Given the description of an element on the screen output the (x, y) to click on. 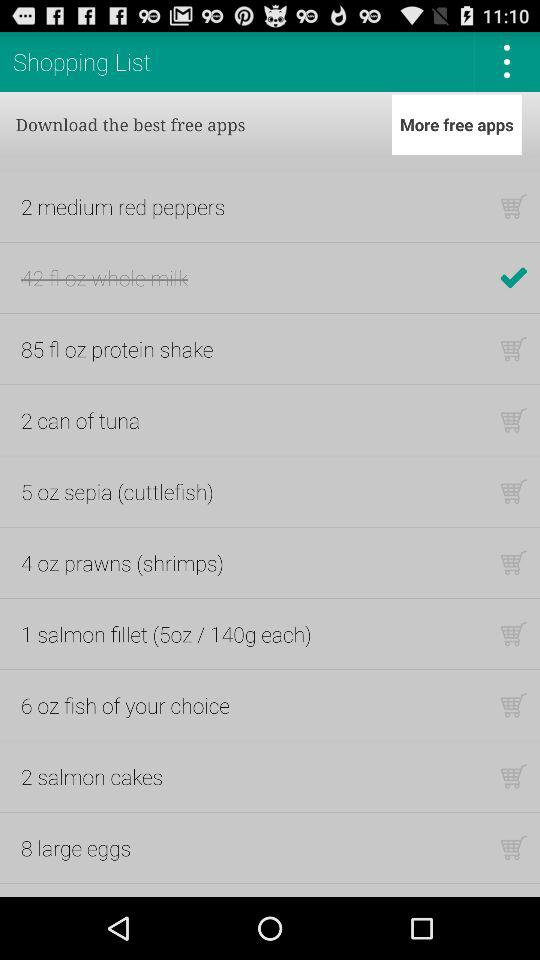
turn on the 4 oz prawns icon (122, 562)
